Given the description of an element on the screen output the (x, y) to click on. 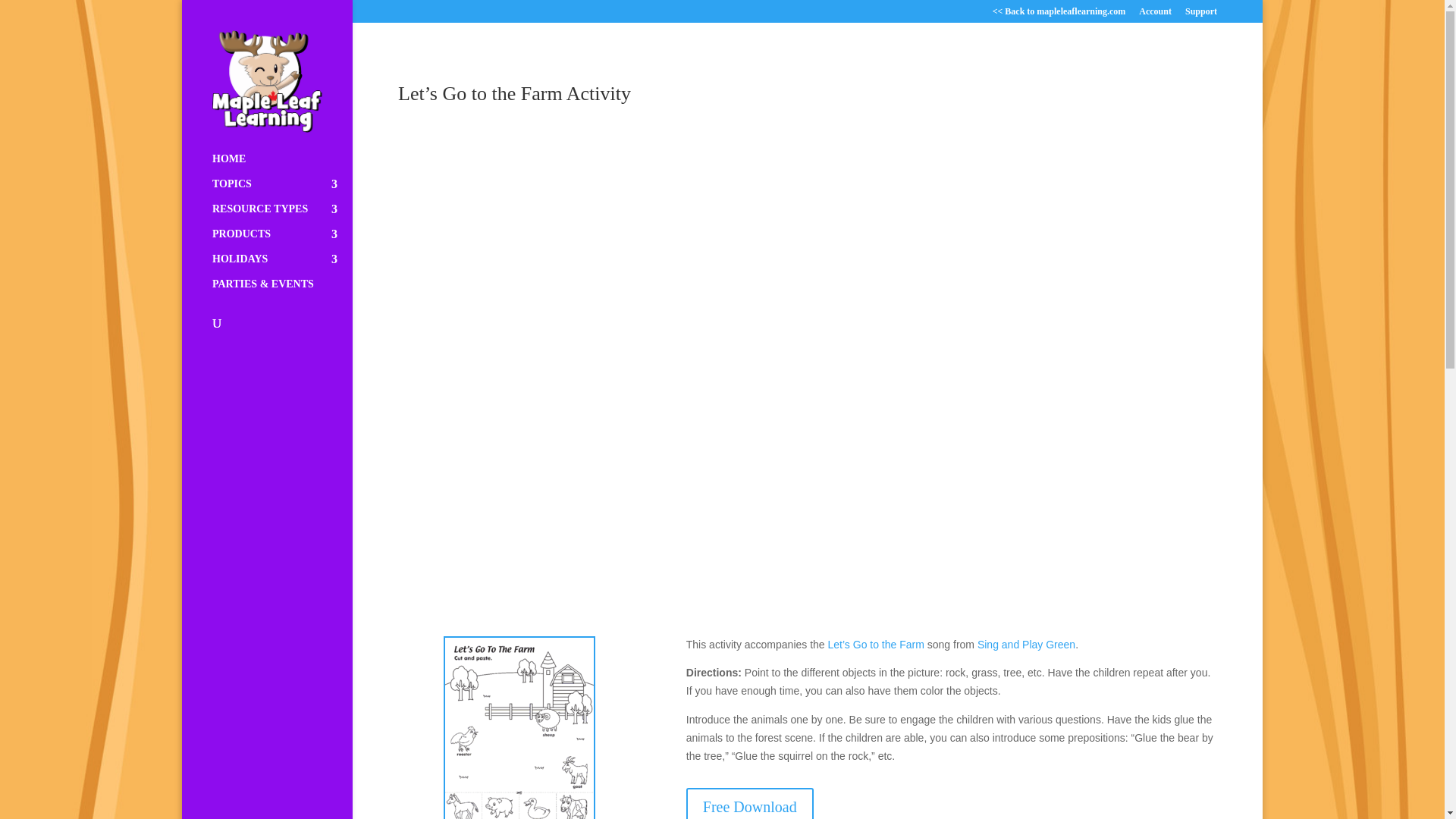
Account (1155, 14)
HOME (282, 166)
Support (1201, 14)
TOPICS (282, 191)
PRODUCTS (282, 241)
HOLIDAYS (282, 266)
RESOURCE TYPES (282, 216)
